Given the description of an element on the screen output the (x, y) to click on. 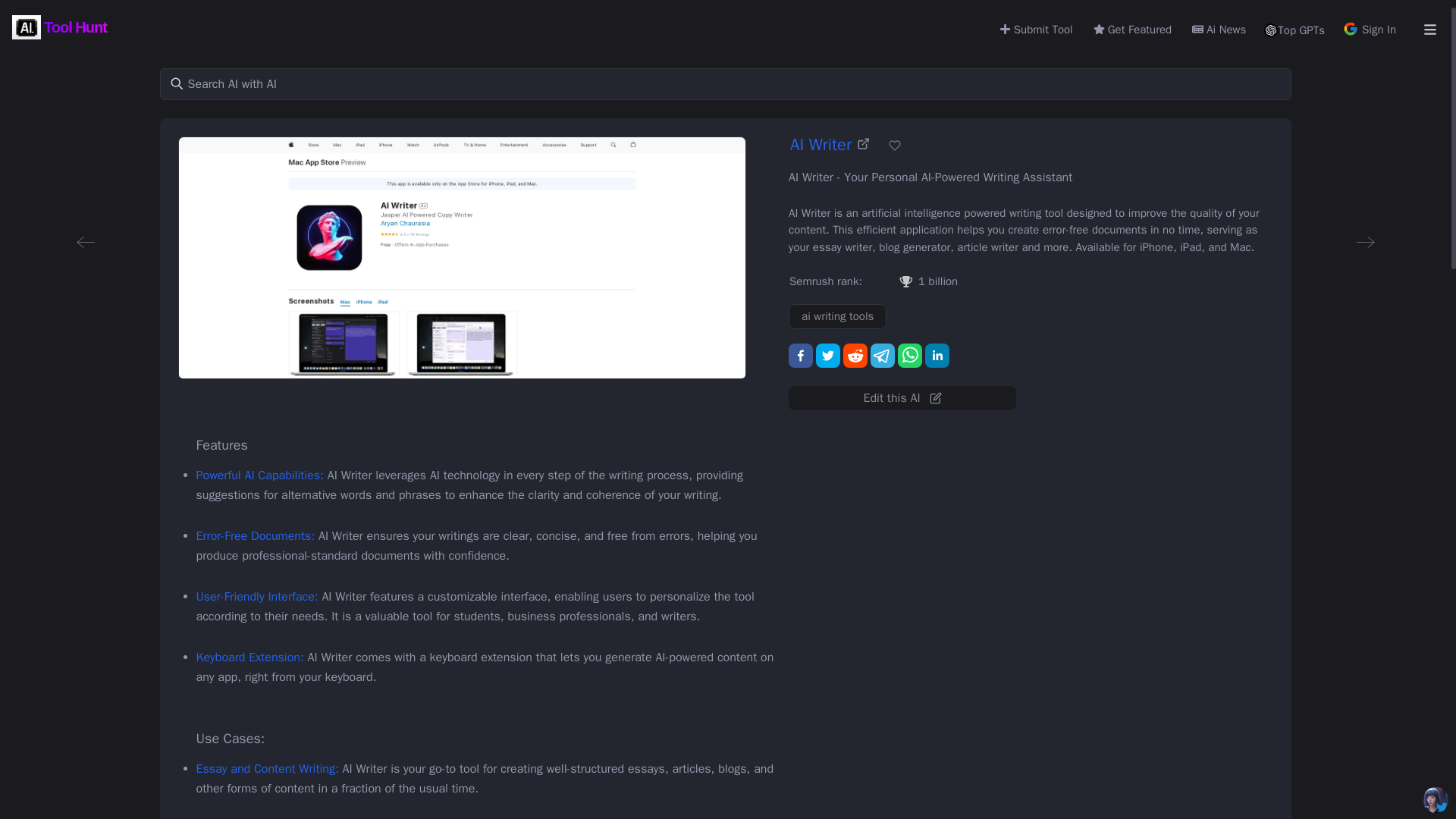
Get Featured (1131, 27)
AI Writer (829, 145)
Submit Tool (1035, 27)
Ai News (1217, 27)
Tool Hunt (60, 27)
ai writing tools (837, 316)
Top GPTs (1293, 30)
